Given the description of an element on the screen output the (x, y) to click on. 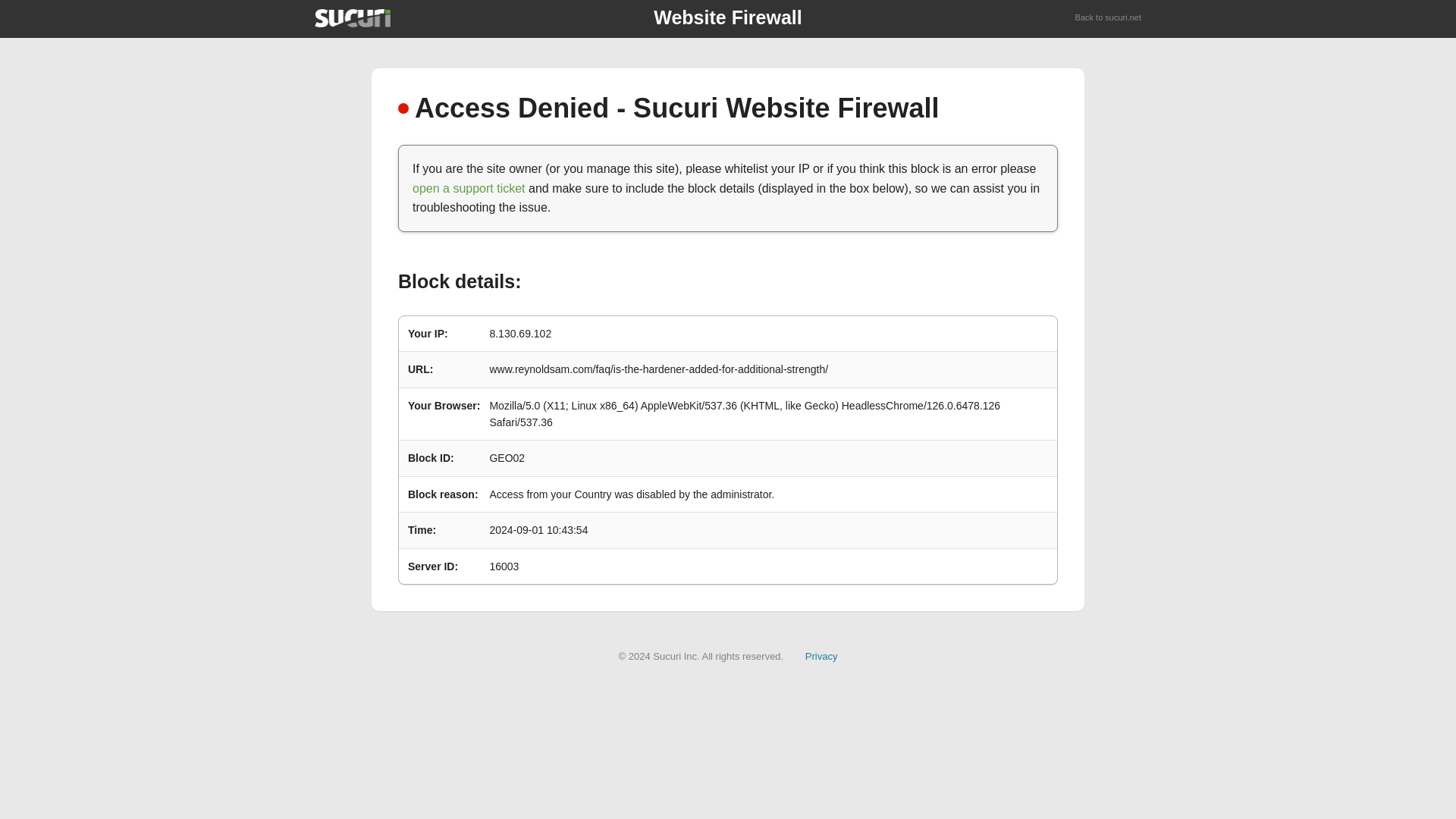
open a support ticket (468, 187)
Privacy (821, 655)
Back to sucuri.net (1108, 18)
